Given the description of an element on the screen output the (x, y) to click on. 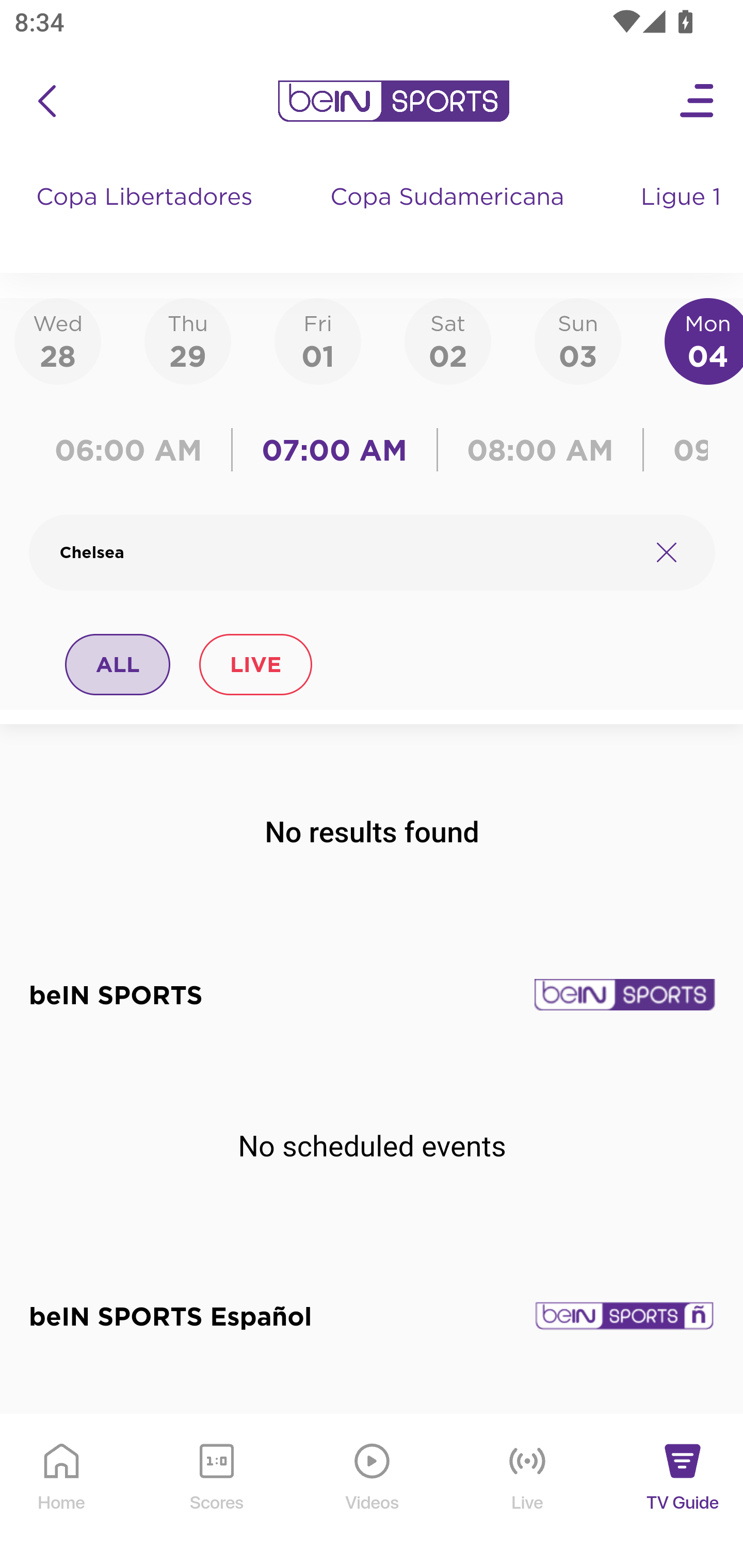
en-us?platform=mobile_android bein logo (392, 101)
icon back (46, 101)
Open Menu Icon (697, 101)
Copa Libertadores (146, 216)
Copa Sudamericana (448, 216)
Ligue 1 (682, 216)
Wed28 (58, 340)
Thu29 (187, 340)
Fri01 (318, 340)
Sat02 (447, 340)
Sun03 (578, 340)
Mon04 (703, 340)
06:00 AM (135, 449)
07:00 AM (334, 449)
08:00 AM (540, 449)
Chelsea (346, 552)
ALL (118, 663)
LIVE (255, 663)
Home Home Icon Home (61, 1491)
Scores Scores Icon Scores (216, 1491)
Videos Videos Icon Videos (372, 1491)
TV Guide TV Guide Icon TV Guide (682, 1491)
